Given the description of an element on the screen output the (x, y) to click on. 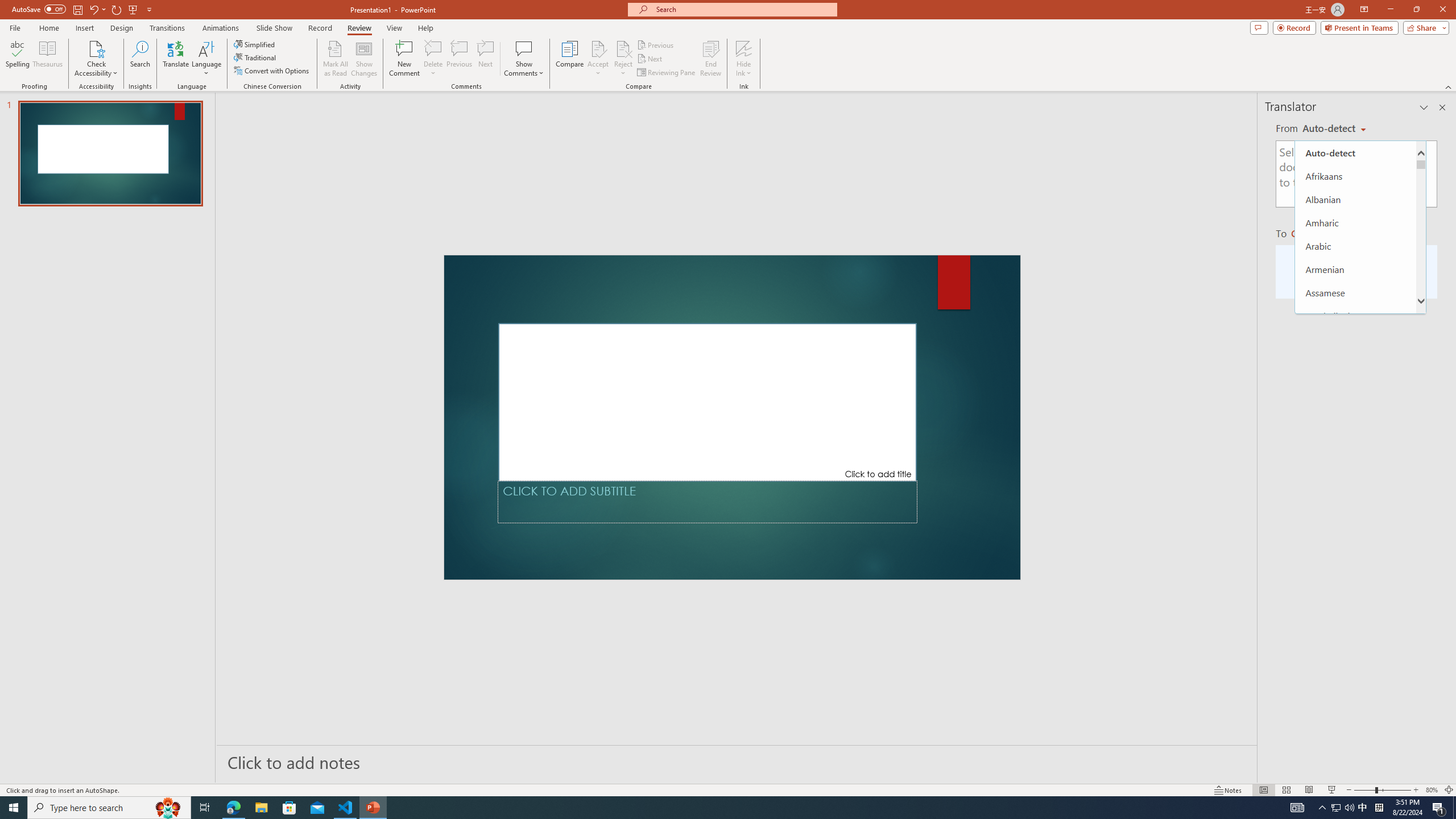
Simplified (254, 44)
Chinese (Literary) (1355, 571)
Czech (1355, 664)
Swap "from" and "to" languages. (1355, 218)
Translate (175, 58)
Delete (432, 58)
